Given the description of an element on the screen output the (x, y) to click on. 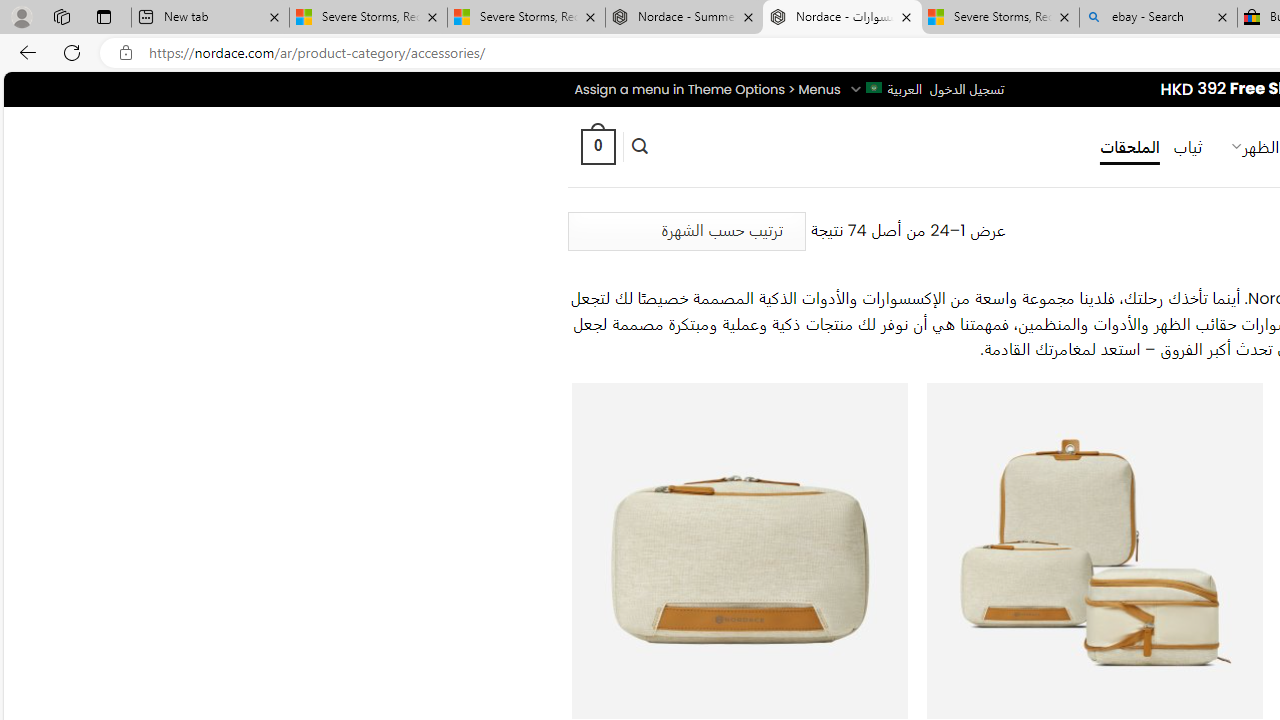
Assign a menu in Theme Options > Menus (706, 89)
Assign a menu in Theme Options > Menus (706, 89)
